Given the description of an element on the screen output the (x, y) to click on. 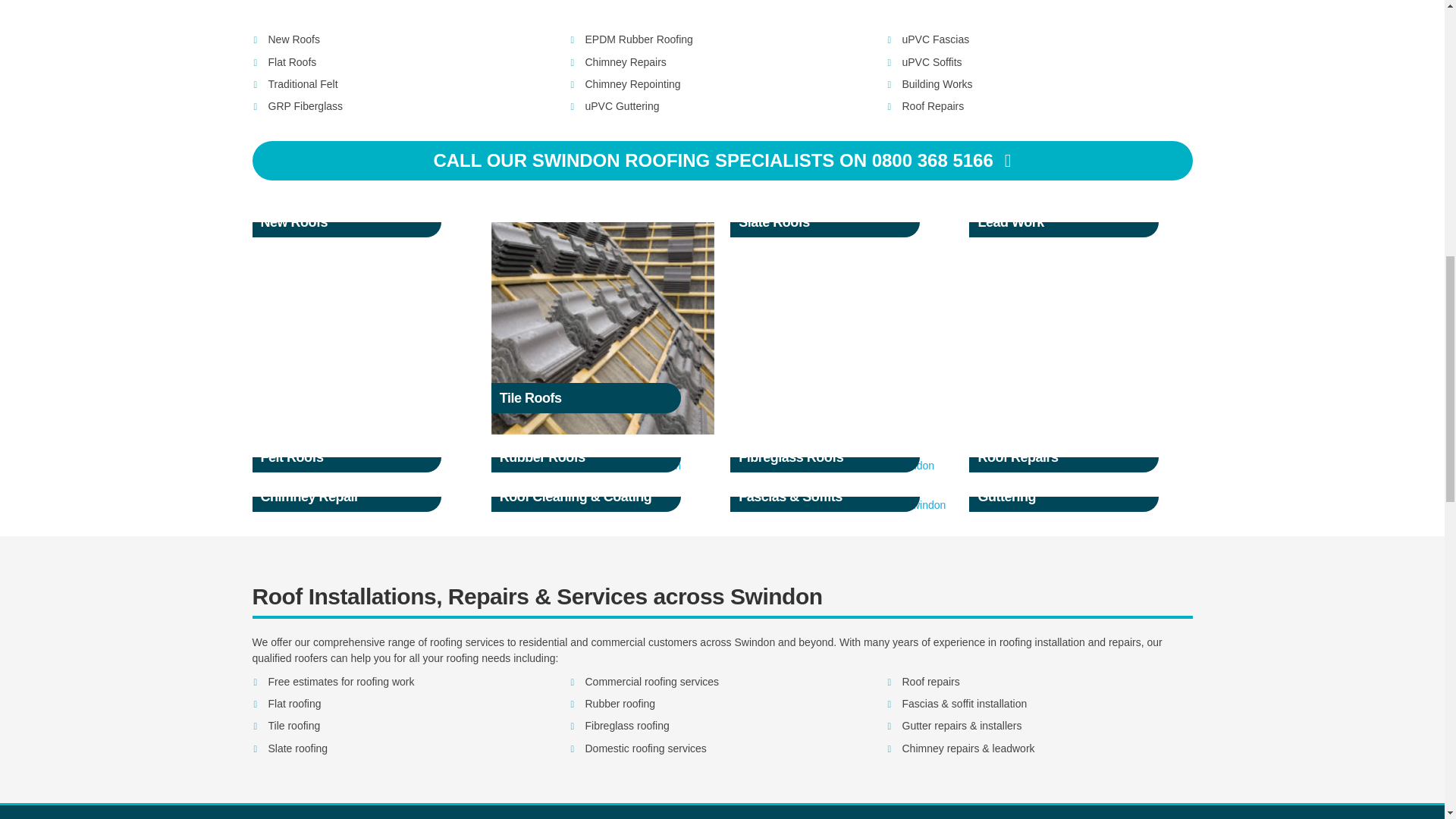
Slate Roofs (818, 230)
Guttering (1051, 505)
New Roofs (324, 230)
Lead Work (1038, 230)
Rubber Roofs (586, 465)
Chimney Repair (325, 505)
Roof Repairs (1055, 465)
CALL OUR SWINDON ROOFING SPECIALISTS ON 0800 368 5166 (721, 160)
Felt Roofs (338, 465)
Tile Roofs (603, 327)
